Given the description of an element on the screen output the (x, y) to click on. 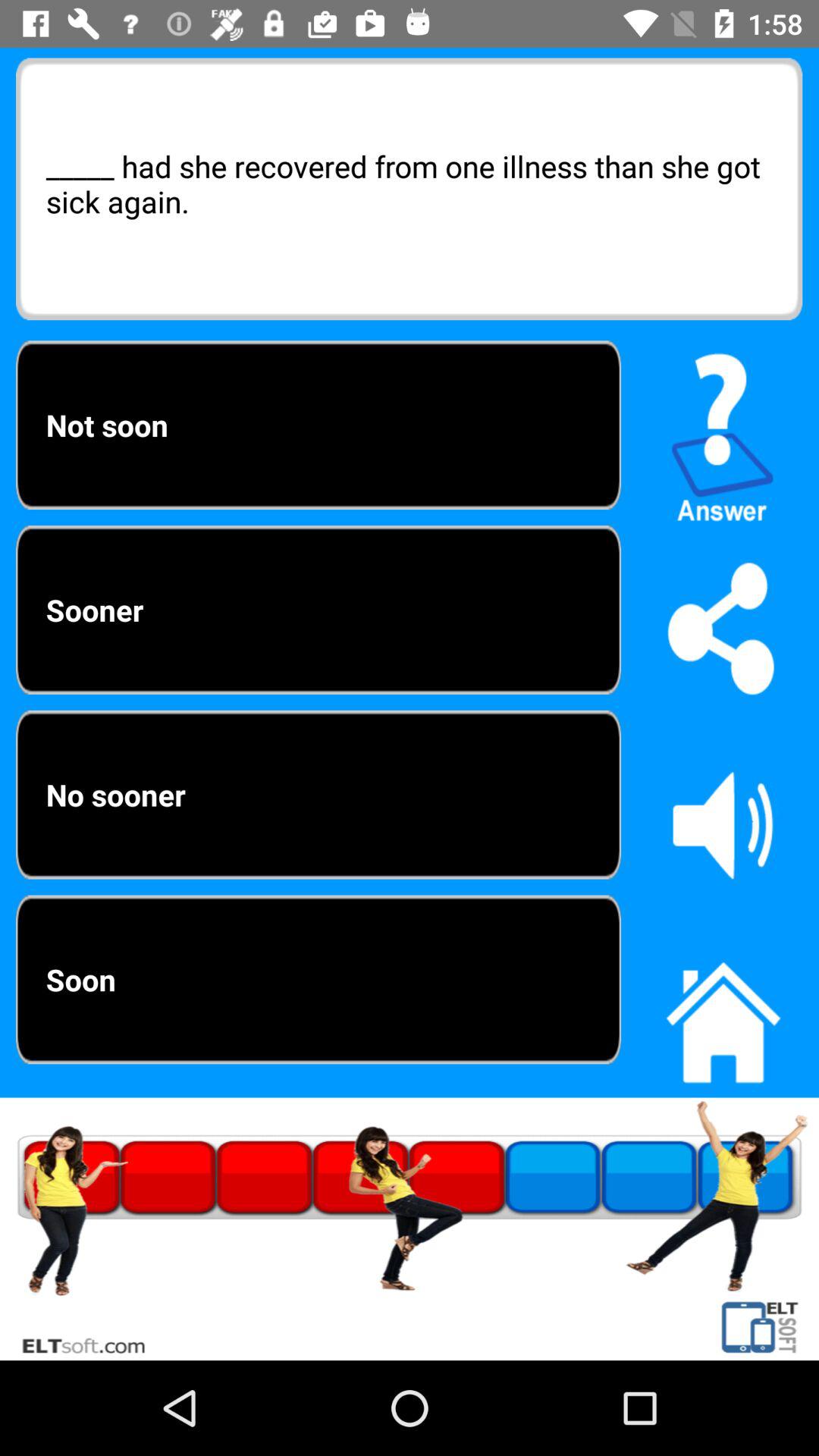
launch icon at the bottom right corner (723, 1013)
